Given the description of an element on the screen output the (x, y) to click on. 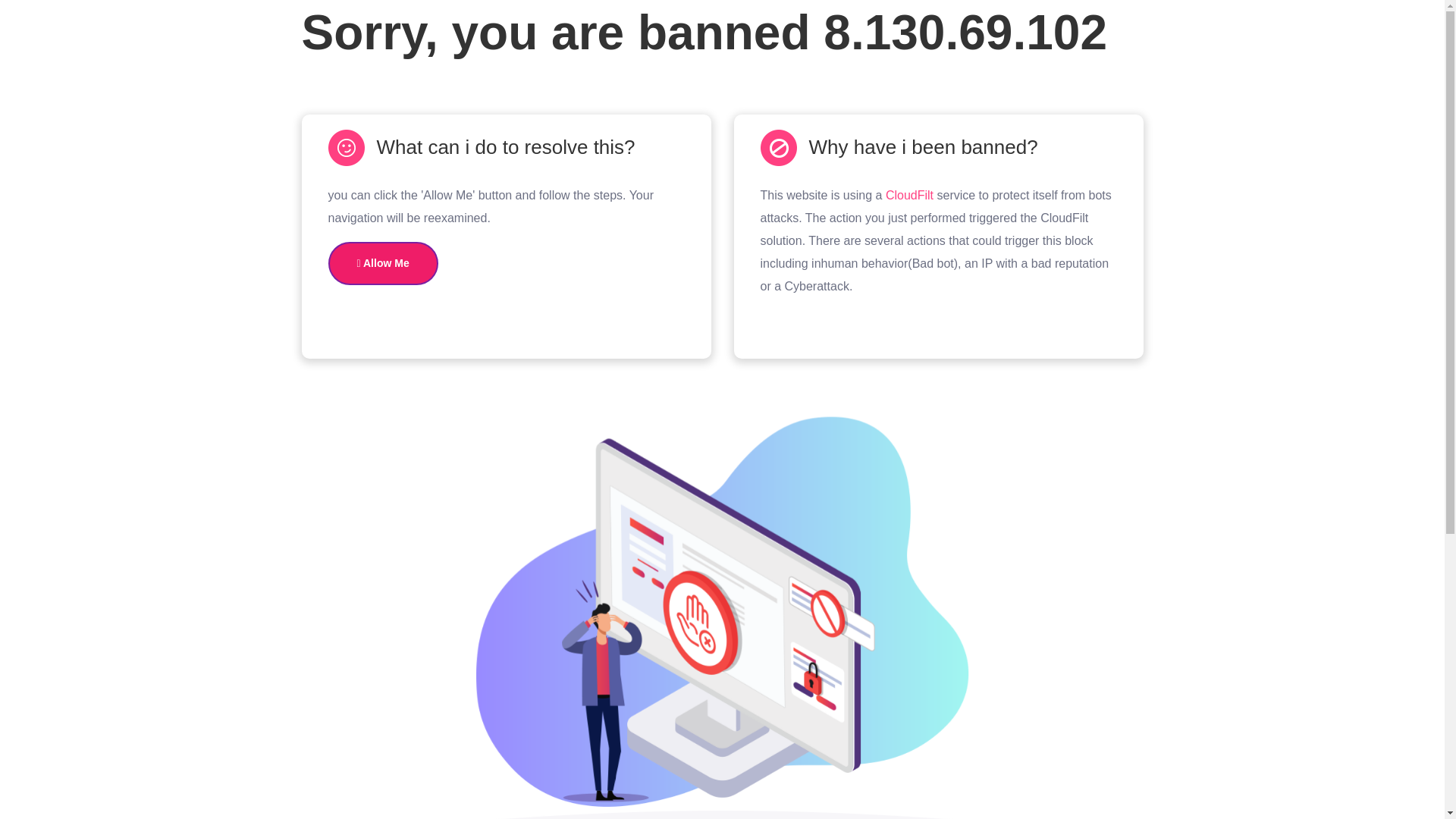
Allow Me (382, 263)
CloudFilt (909, 195)
